Given the description of an element on the screen output the (x, y) to click on. 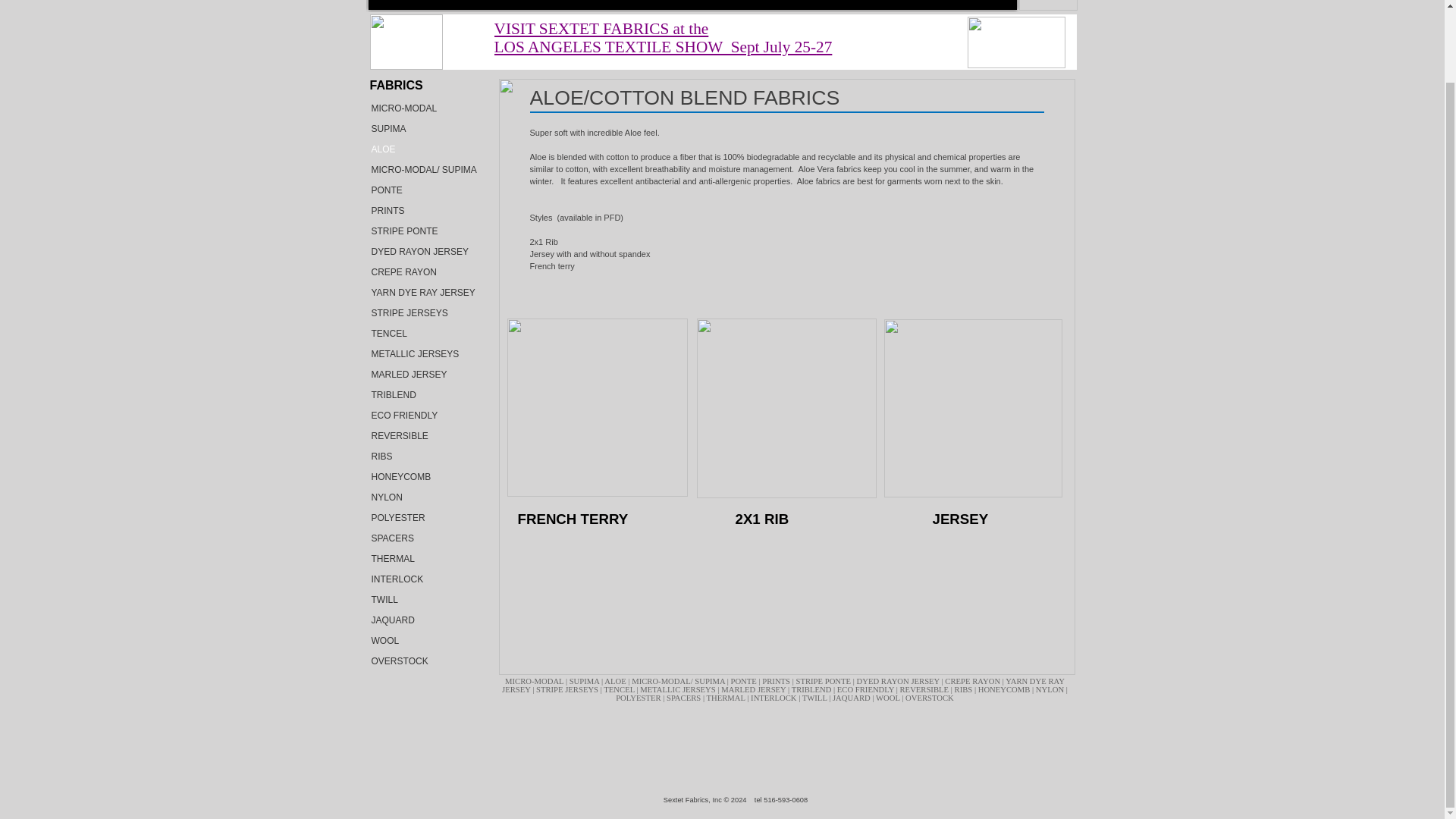
WOOL (425, 639)
Ribs (425, 455)
Thermal, Waffle, Stretch, Texture (425, 557)
SUPIMA (425, 127)
MICRO-MODAL (425, 107)
PONTE (744, 681)
SPACERS (425, 537)
THERMAL (425, 557)
PRINTS (425, 209)
Aloe knit fabrics (425, 148)
VISIT SEXTET FABRICS at the (602, 28)
ALOE (425, 148)
TRIBLEND (425, 394)
Knitted Spacer Fabrics.  Great Stretch and Compression (425, 537)
POLYESTER (425, 516)
